Given the description of an element on the screen output the (x, y) to click on. 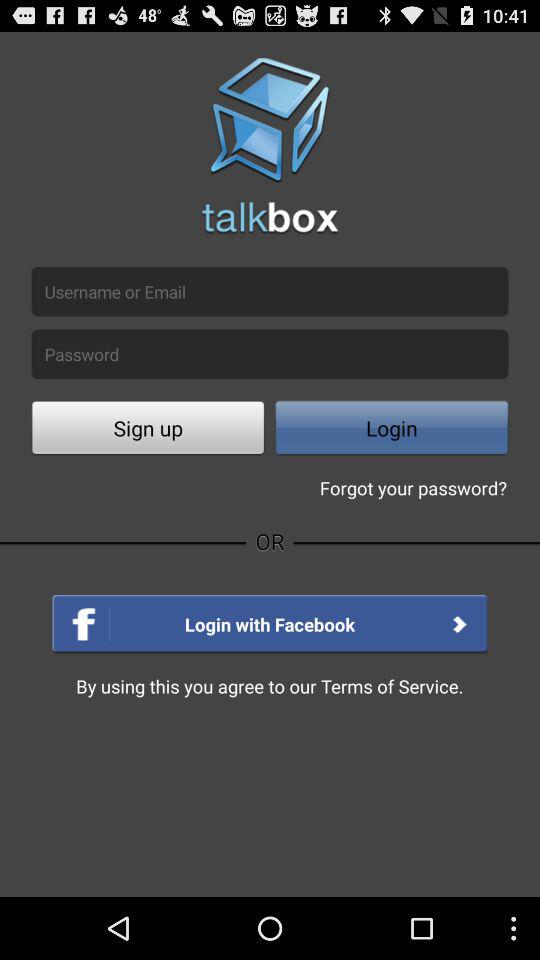
select the option login with facebook (270, 624)
click on forgot your password (413, 488)
click on blue button right to sign up option (392, 430)
click the sign up which is there in white color (147, 430)
read the text which is in the bottom line of the page (269, 685)
